Given the description of an element on the screen output the (x, y) to click on. 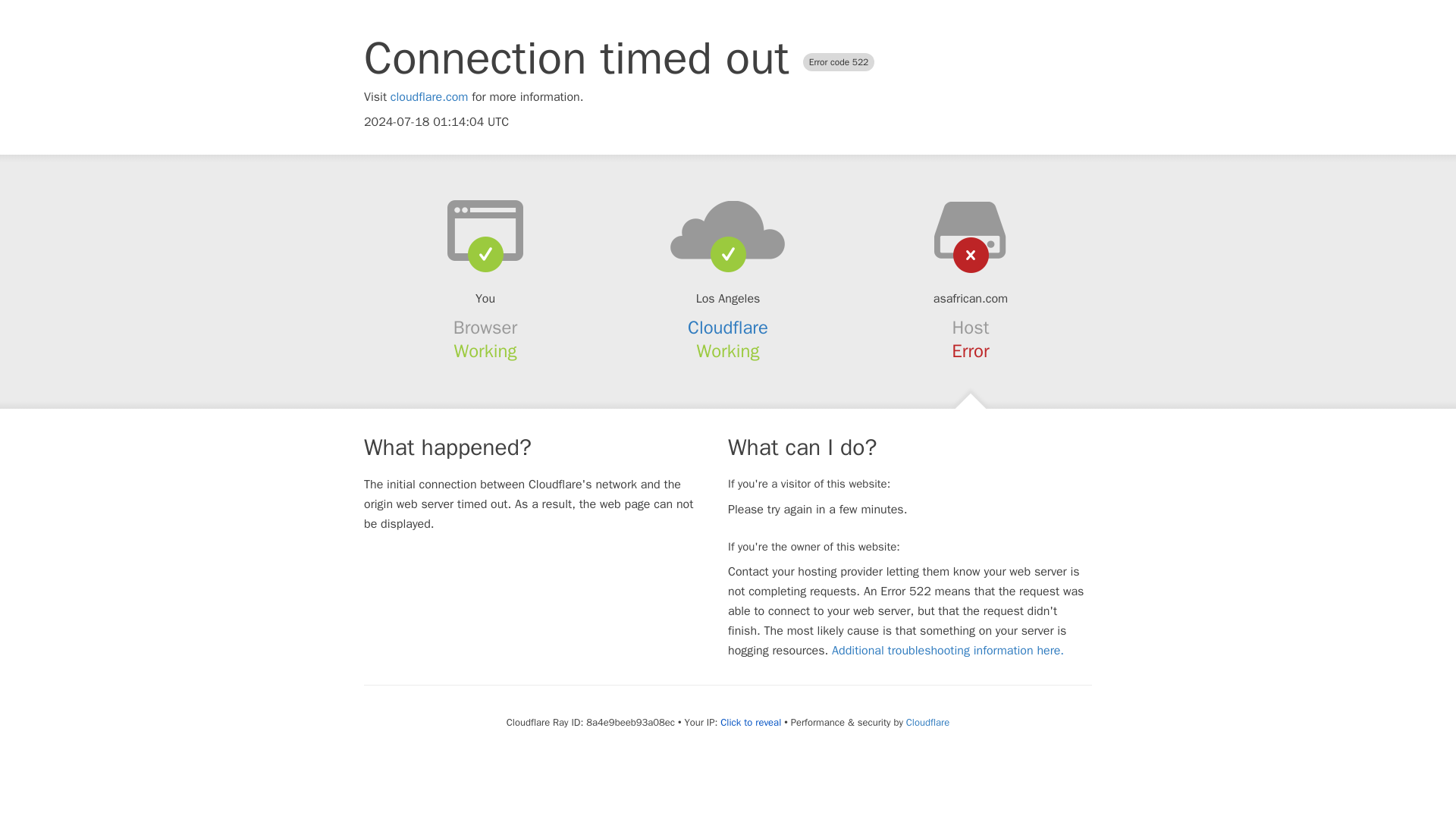
Cloudflare (927, 721)
Additional troubleshooting information here. (947, 650)
cloudflare.com (429, 96)
Click to reveal (750, 722)
Cloudflare (727, 327)
